Given the description of an element on the screen output the (x, y) to click on. 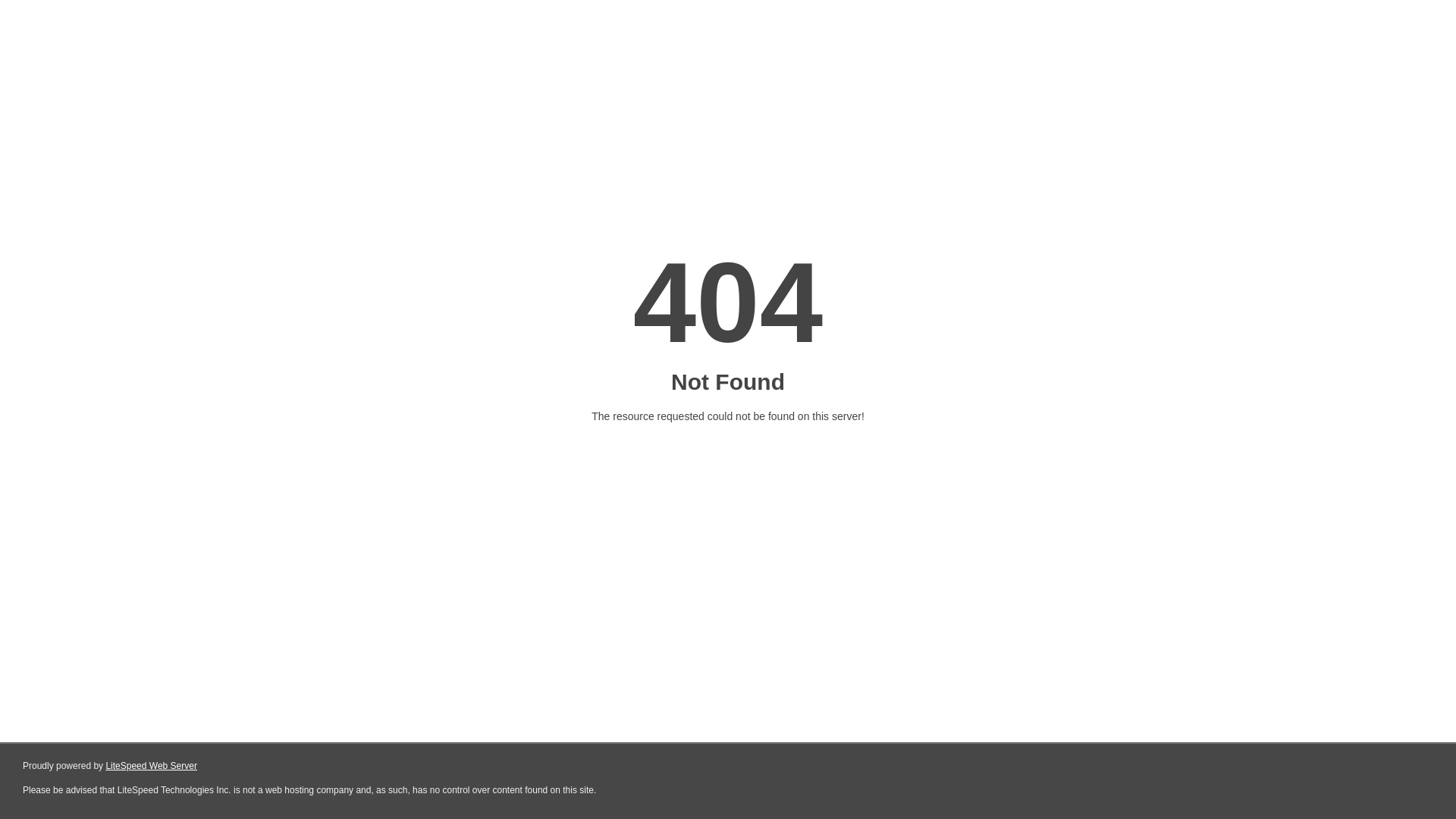
LiteSpeed Web Server Element type: text (151, 765)
